Given the description of an element on the screen output the (x, y) to click on. 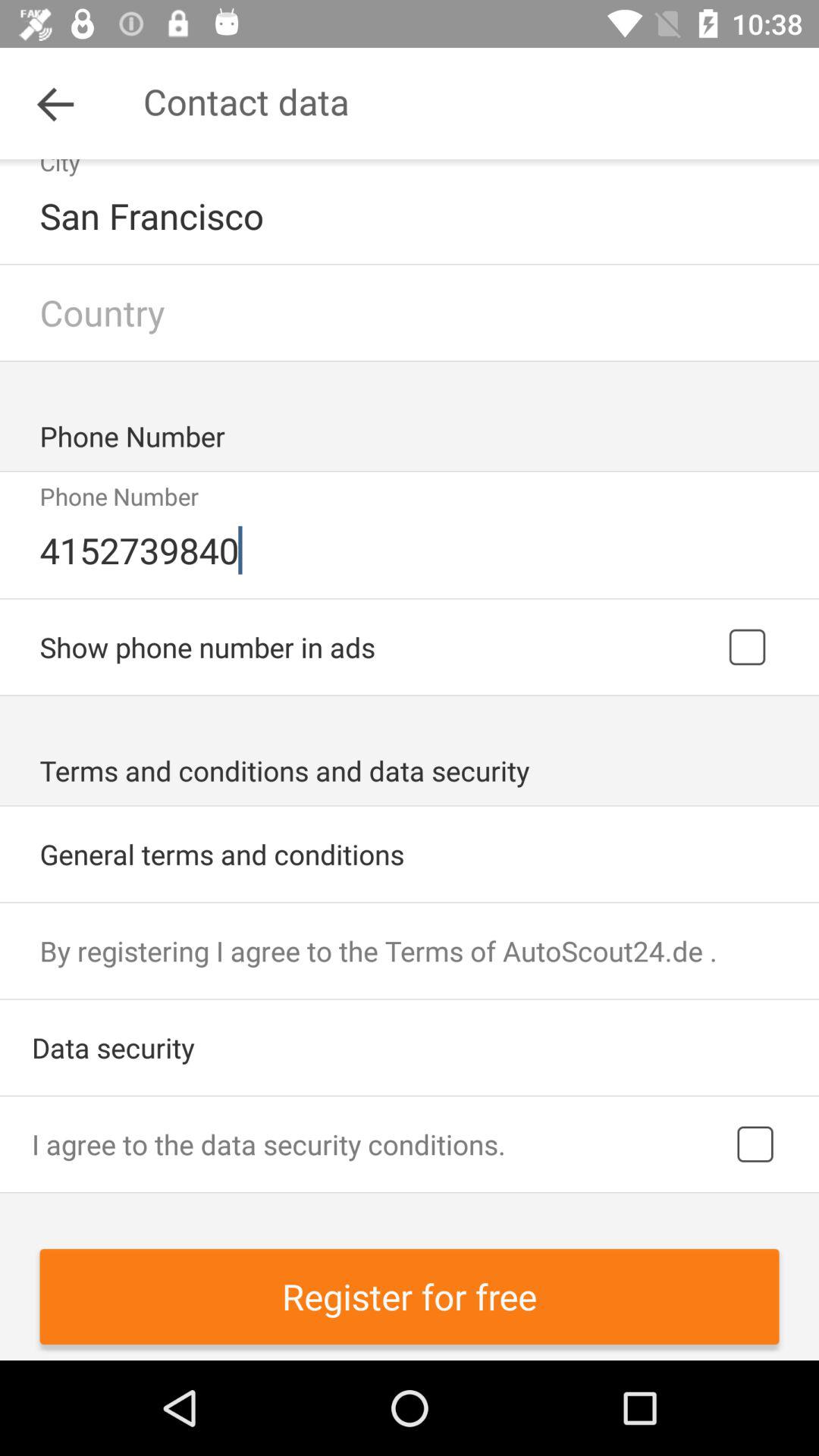
jump until the 4152739840 (411, 550)
